Given the description of an element on the screen output the (x, y) to click on. 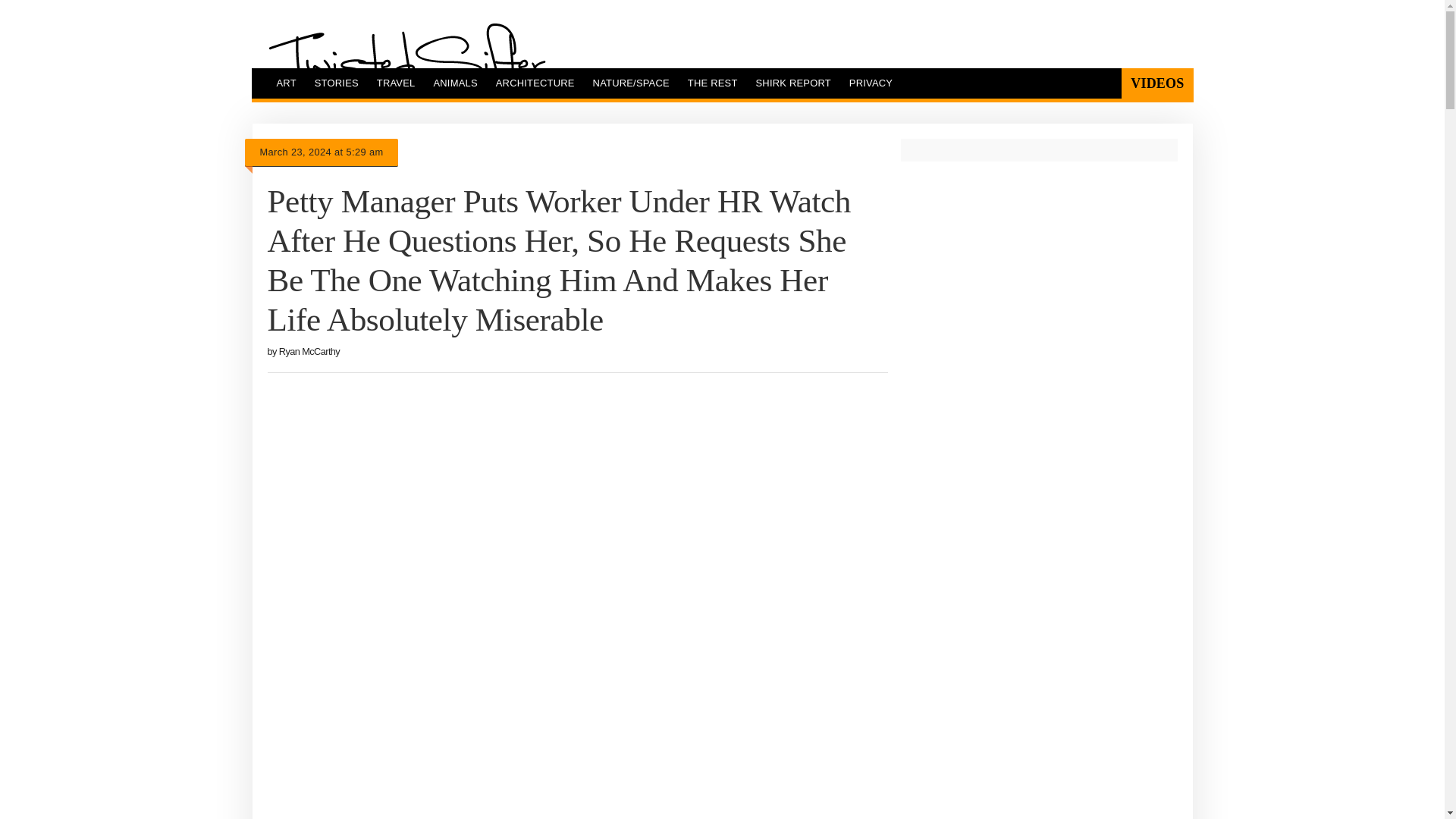
PRIVACY (870, 82)
VIDEOS (1156, 82)
Home (406, 59)
TRAVEL (396, 82)
THE REST (712, 82)
ART (285, 82)
ARCHITECTURE (534, 82)
STORIES (336, 82)
SHIRK REPORT (793, 82)
ANIMALS (454, 82)
